Given the description of an element on the screen output the (x, y) to click on. 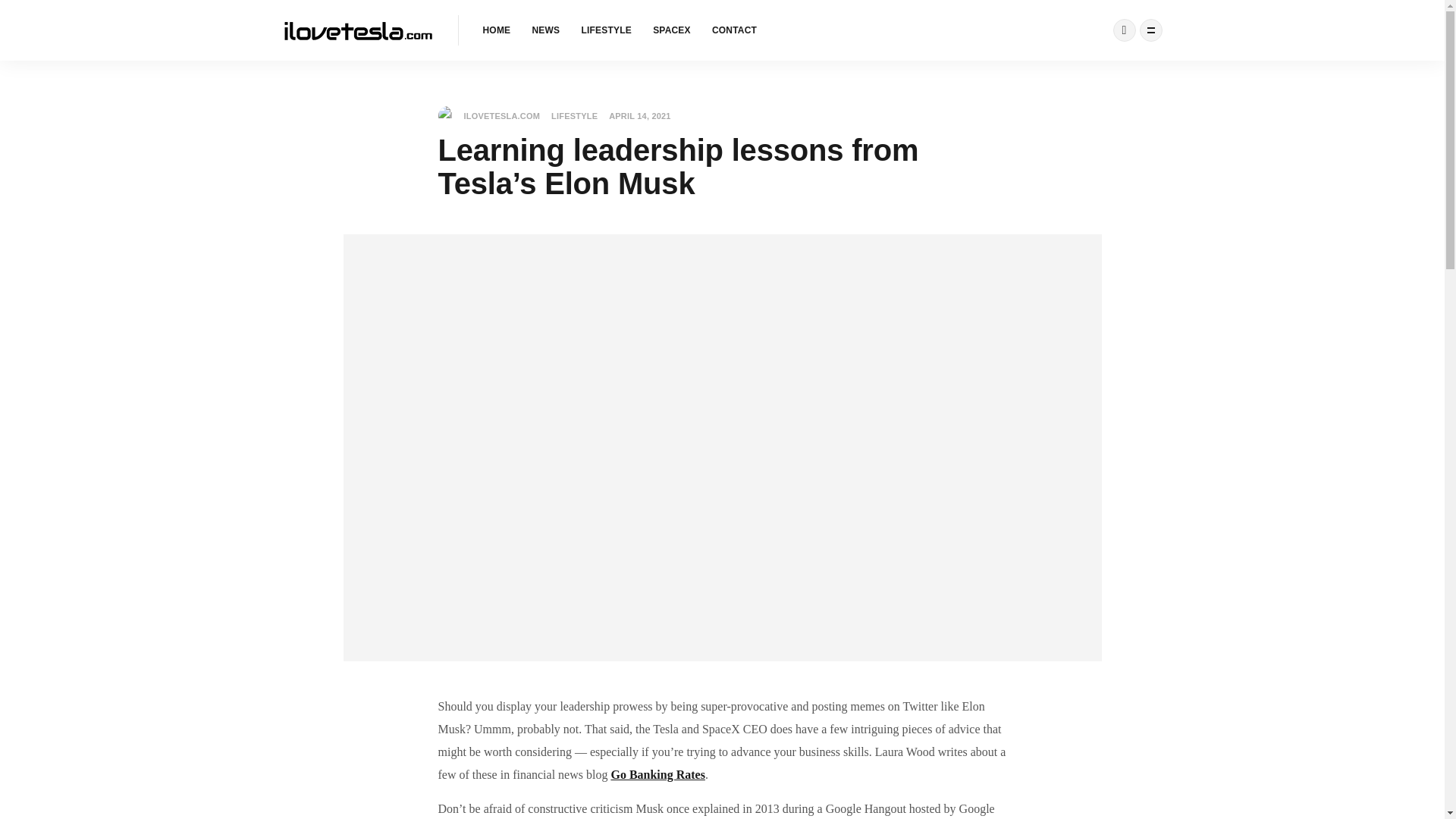
ILOVETESLA.COM (489, 116)
LIFESTYLE (573, 116)
Go Banking Rates (657, 774)
APRIL 14, 2021 (638, 115)
